Given the description of an element on the screen output the (x, y) to click on. 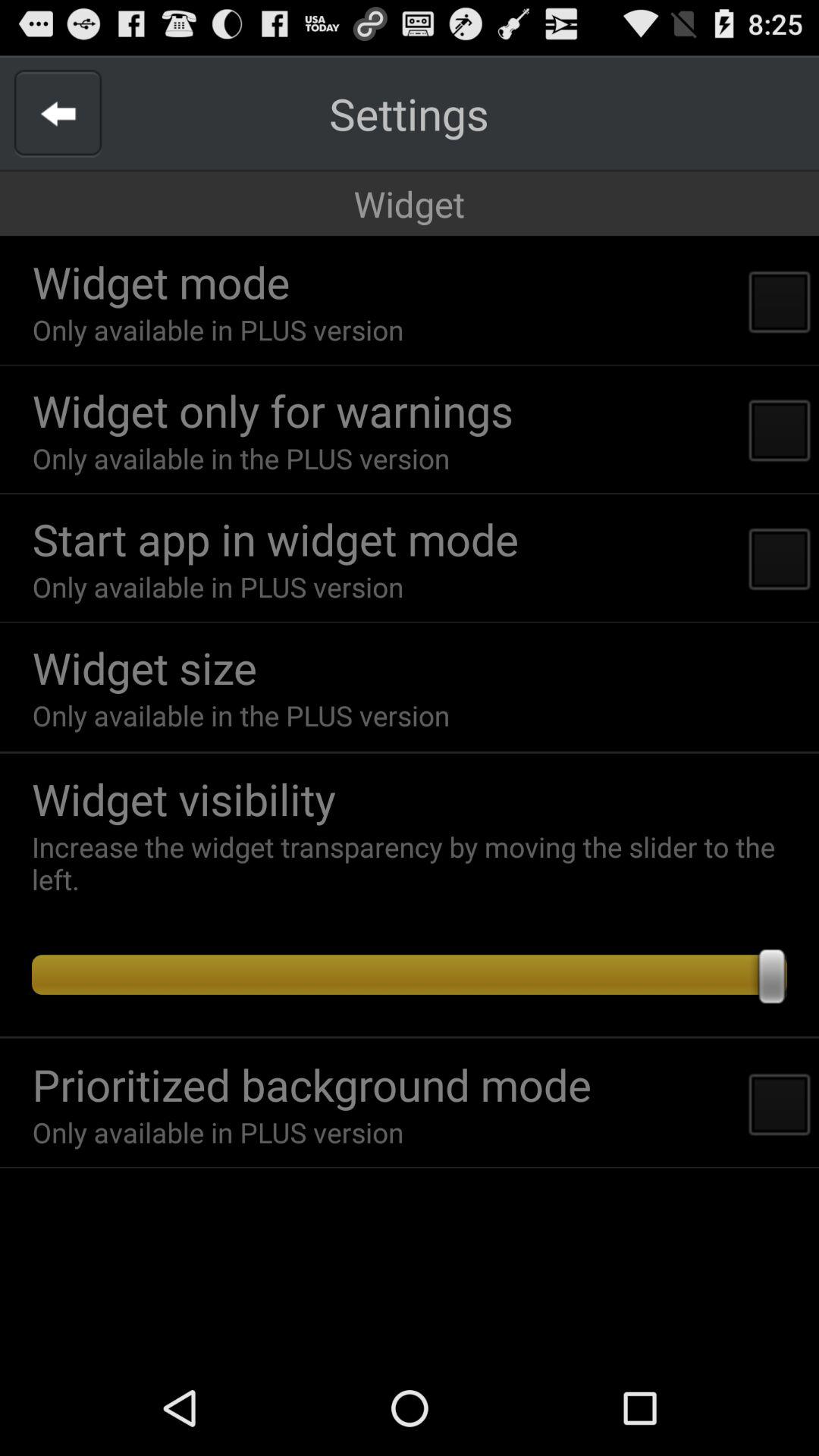
tap app above the increase the widget item (417, 798)
